Given the description of an element on the screen output the (x, y) to click on. 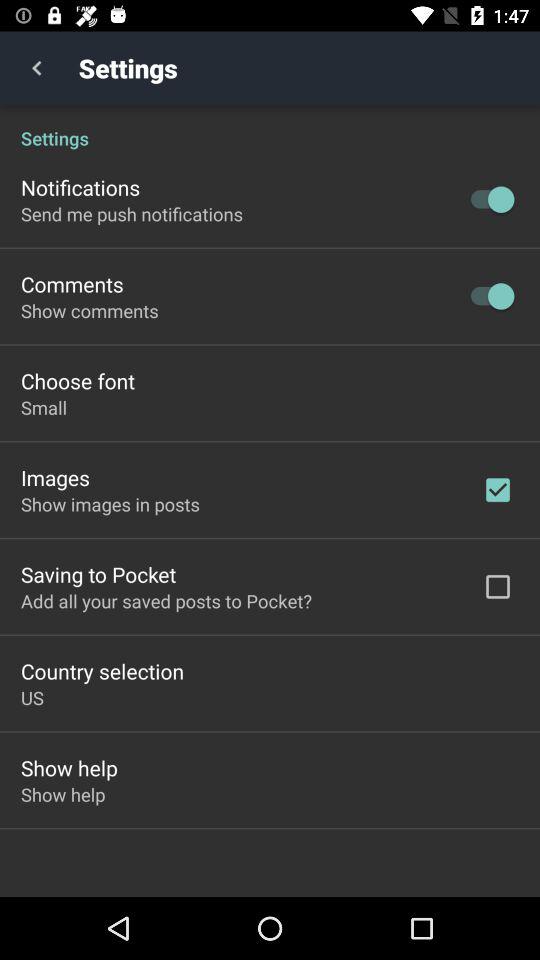
tap the icon above the saving to pocket item (110, 503)
